Given the description of an element on the screen output the (x, y) to click on. 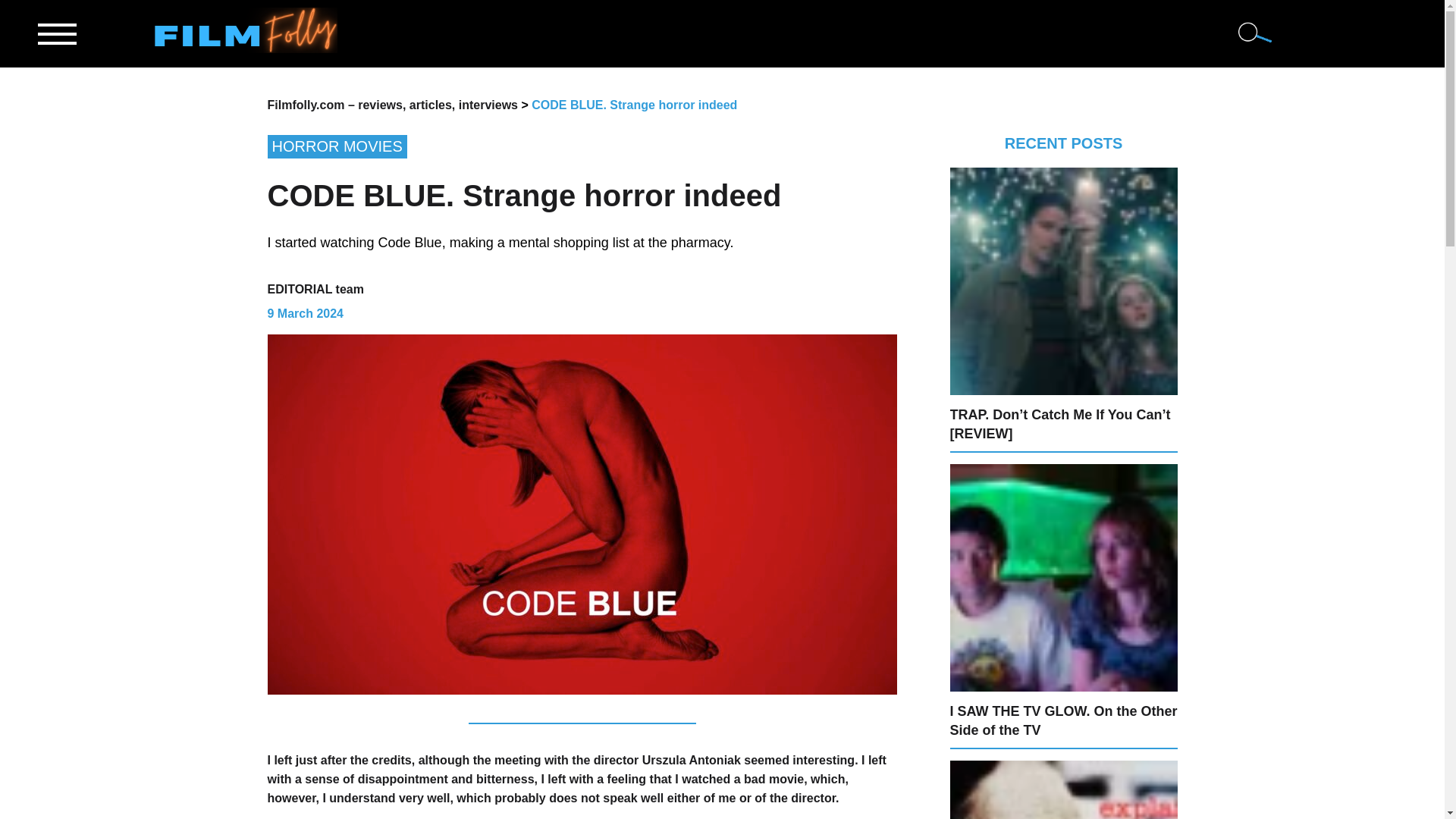
HORROR MOVIES (581, 146)
I SAW THE TV GLOW. On the Other Side of the TV (1062, 720)
